Given the description of an element on the screen output the (x, y) to click on. 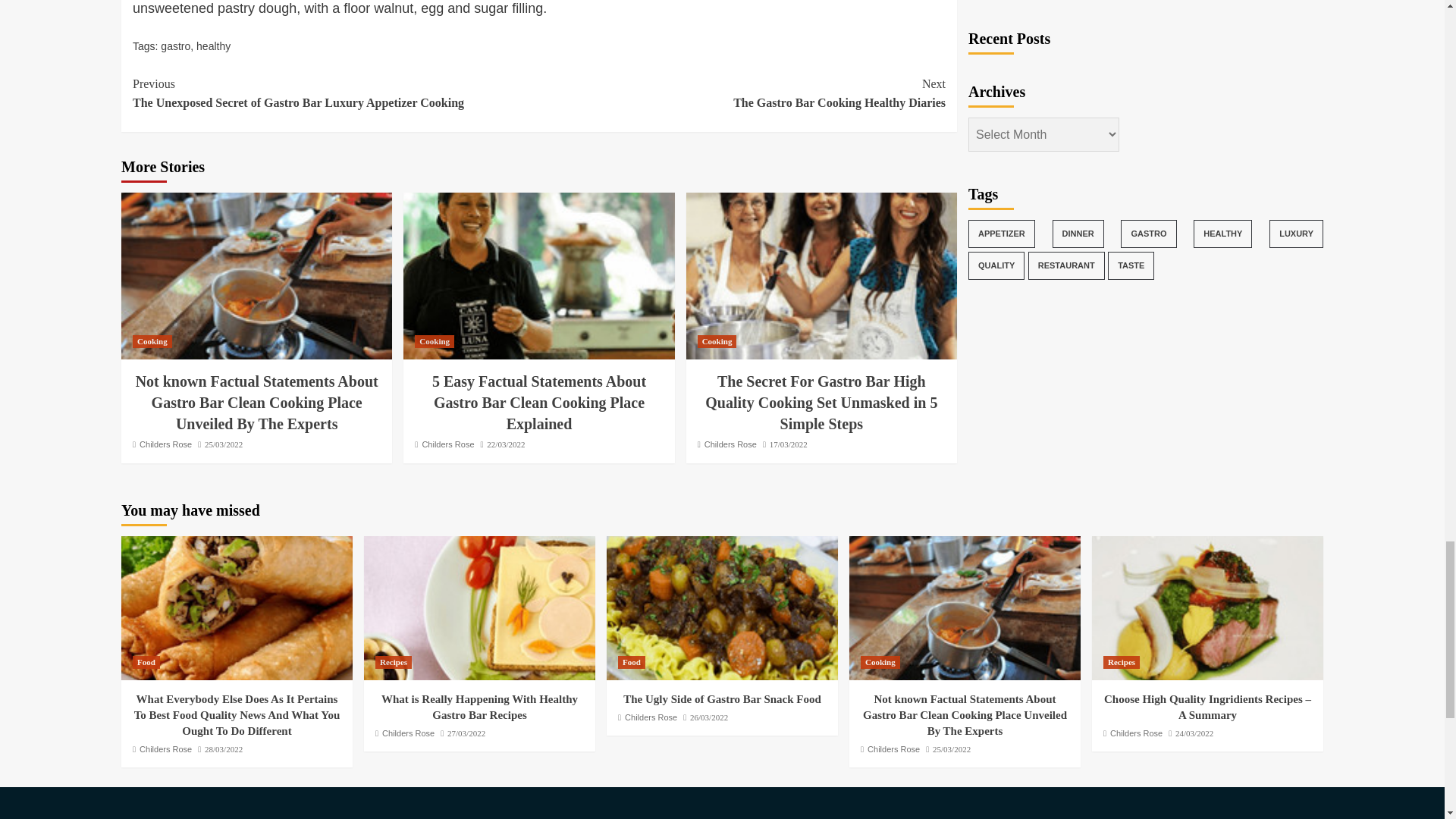
The Ugly Side of Gastro Bar Snack Food (722, 608)
healthy (213, 46)
Choose High Quality Ingridients Recipes - A Summary (1207, 608)
Childers Rose (165, 443)
Childers Rose (448, 443)
Cooking (151, 341)
Childers Rose (730, 443)
